Given the description of an element on the screen output the (x, y) to click on. 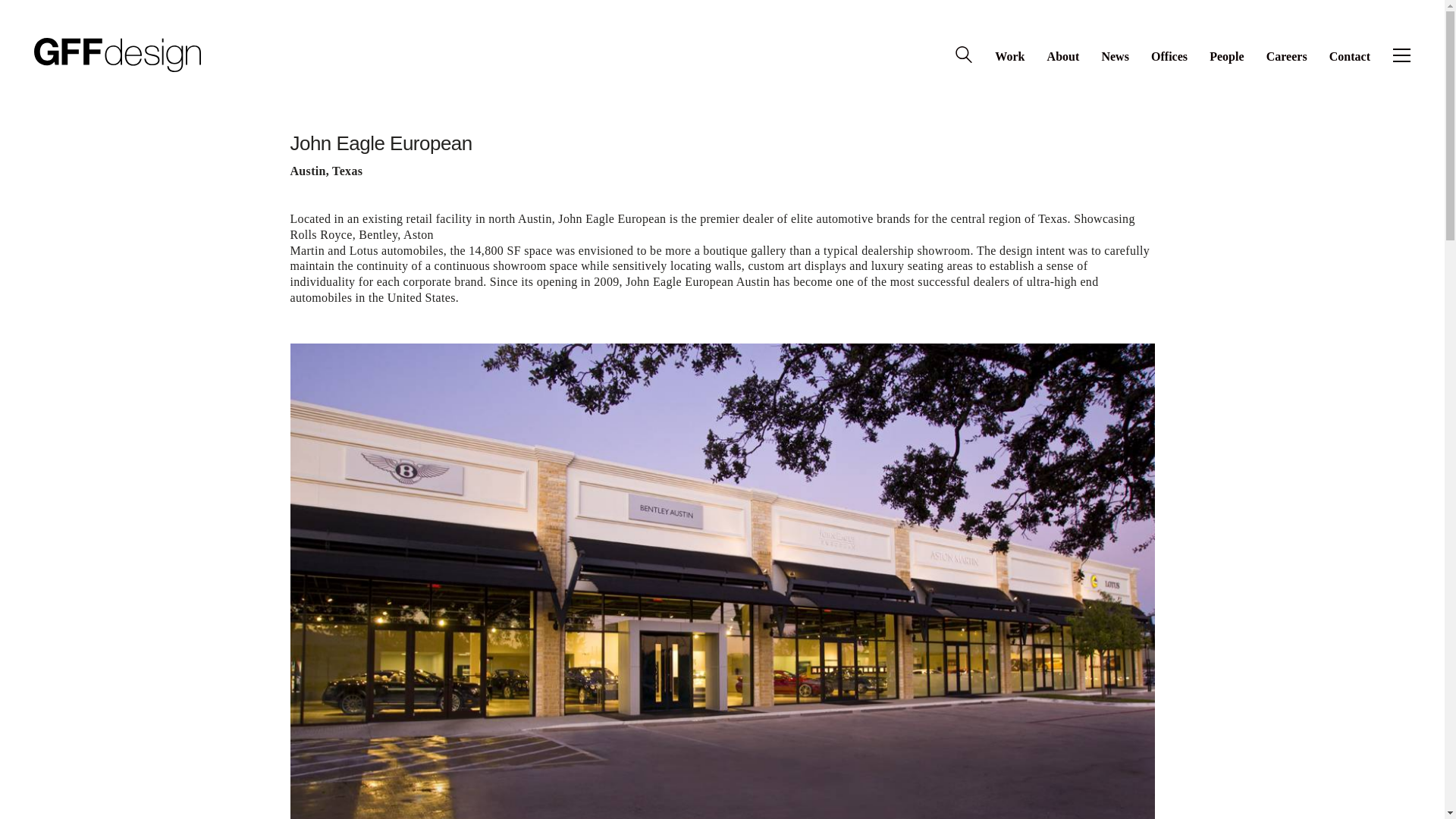
Contact (1349, 56)
About (1063, 56)
Work (1009, 56)
People (1226, 56)
Careers (1286, 56)
News (1114, 56)
Offices (1169, 56)
